Given the description of an element on the screen output the (x, y) to click on. 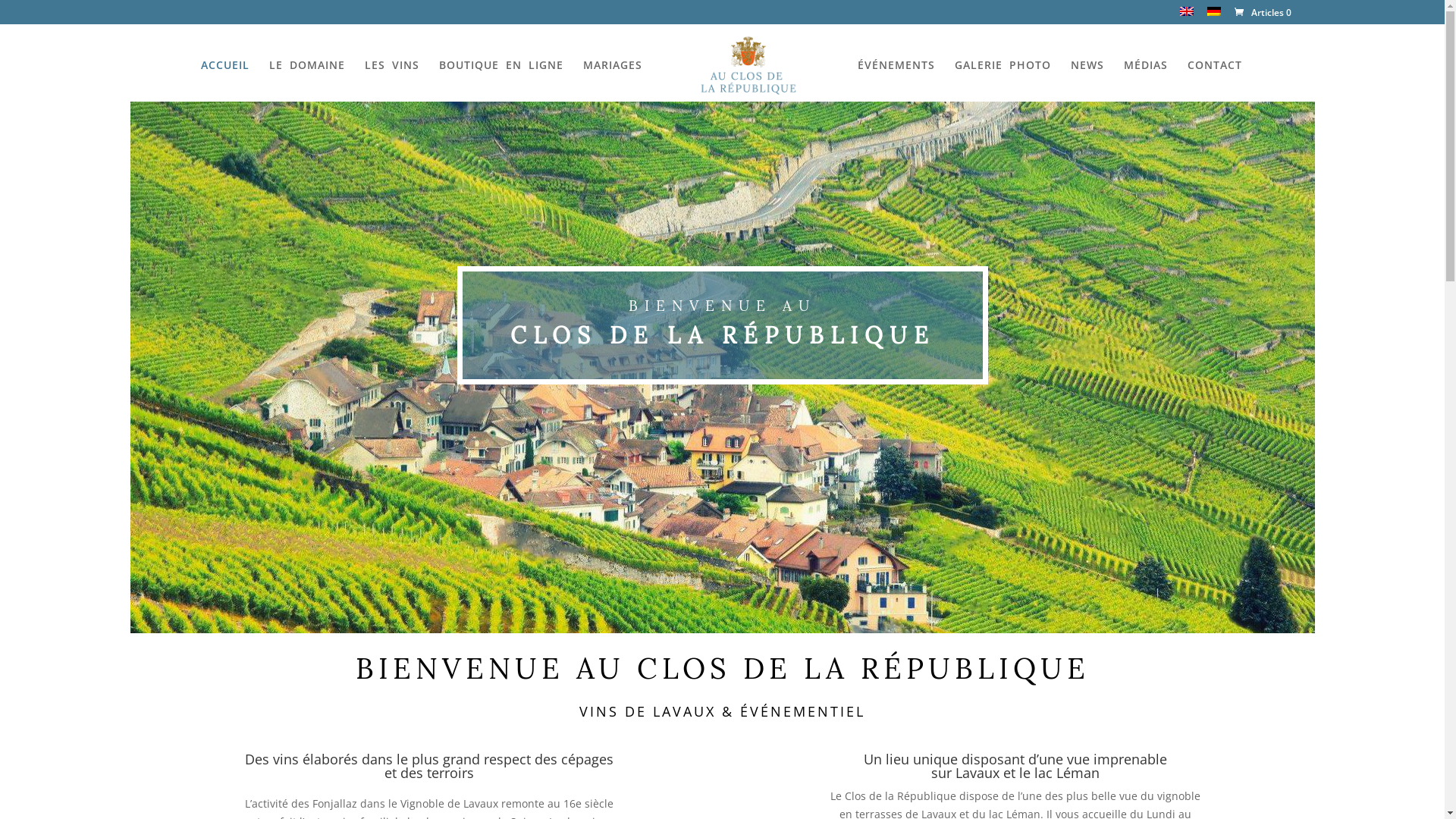
NEWS Element type: text (1087, 80)
LES VINS Element type: text (391, 80)
MARIAGES Element type: text (612, 80)
BOUTIQUE EN LIGNE Element type: text (501, 80)
ACCUEIL Element type: text (224, 80)
CONTACT Element type: text (1214, 80)
GALERIE PHOTO Element type: text (1002, 80)
LE DOMAINE Element type: text (307, 80)
Articles 0 Element type: text (1260, 12)
